Given the description of an element on the screen output the (x, y) to click on. 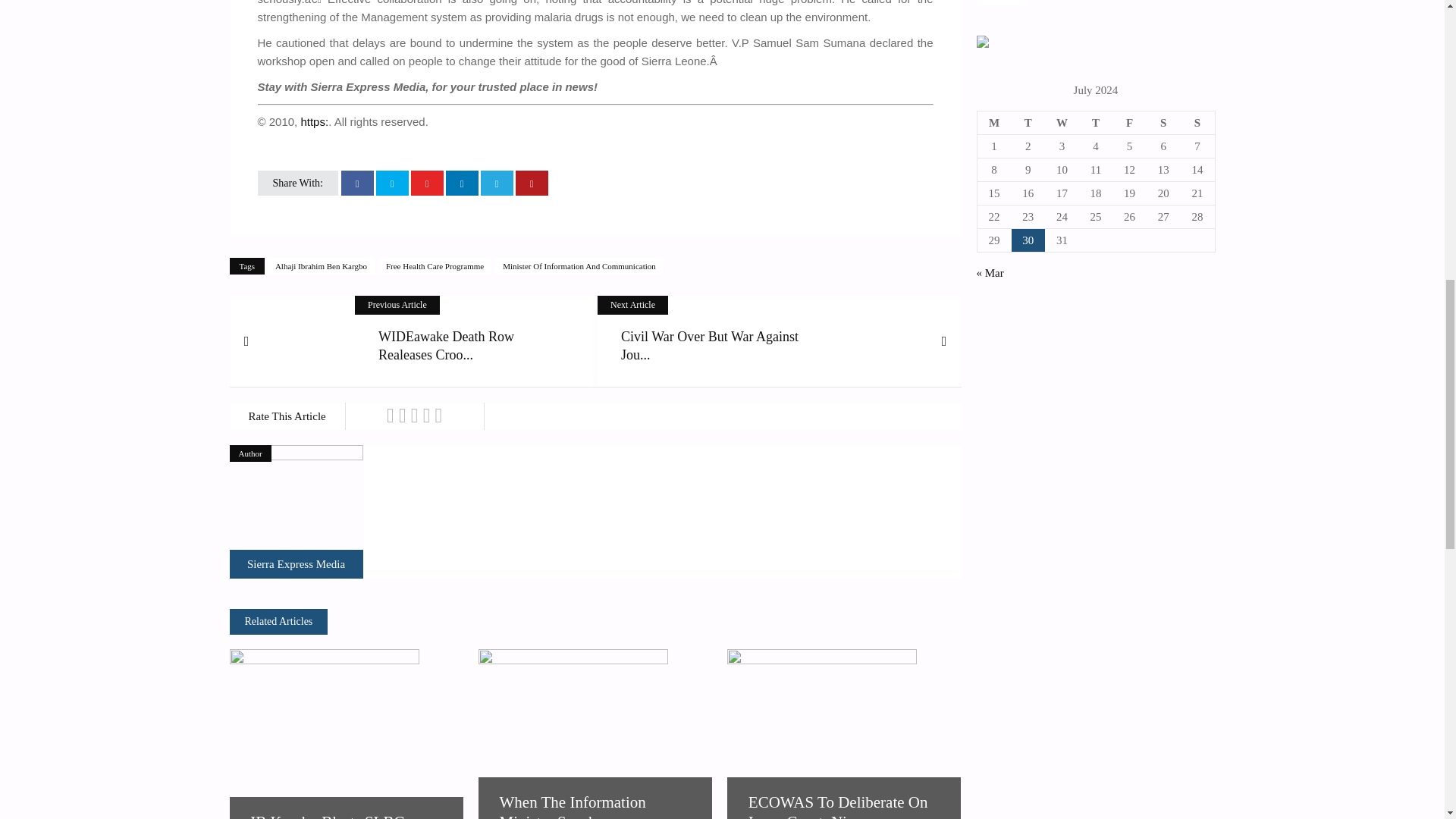
Friday (1129, 122)
I.B. Kargbo angry over pilferage of free health care! (295, 511)
Internet Programming Solutions - A SaloneTech Company (982, 43)
Saturday (1163, 122)
Tuesday (1028, 122)
Thursday (1095, 122)
Sunday (1196, 122)
Monday (993, 122)
Wednesday (1061, 122)
I.B. Kargbo angry over pilferage of free health care! (295, 563)
